Given the description of an element on the screen output the (x, y) to click on. 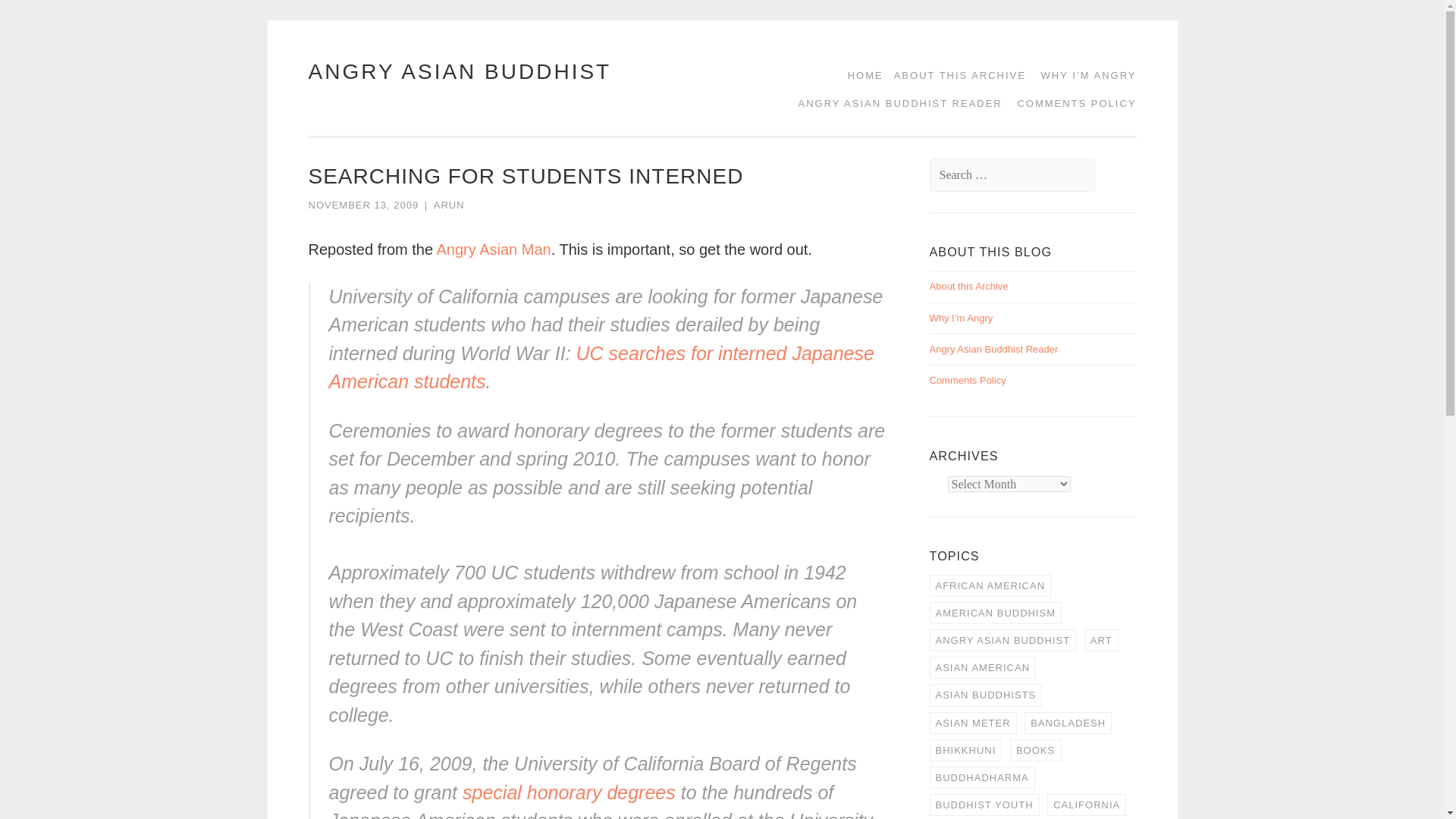
HOME (860, 75)
Search (42, 16)
ART (1101, 640)
ARUN (448, 204)
BANGLADESH (1068, 722)
COMMENTS POLICY (1070, 103)
ABOUT THIS ARCHIVE (954, 75)
BOOKS (1035, 750)
BUDDHIST YOUTH (984, 804)
BUDDHADHARMA (982, 777)
ANGRY ASIAN BUDDHIST (1003, 640)
NOVEMBER 13, 2009 (363, 204)
special honorary degrees (569, 792)
ASIAN METER (973, 722)
ANGRY ASIAN BUDDHIST (459, 71)
